Given the description of an element on the screen output the (x, y) to click on. 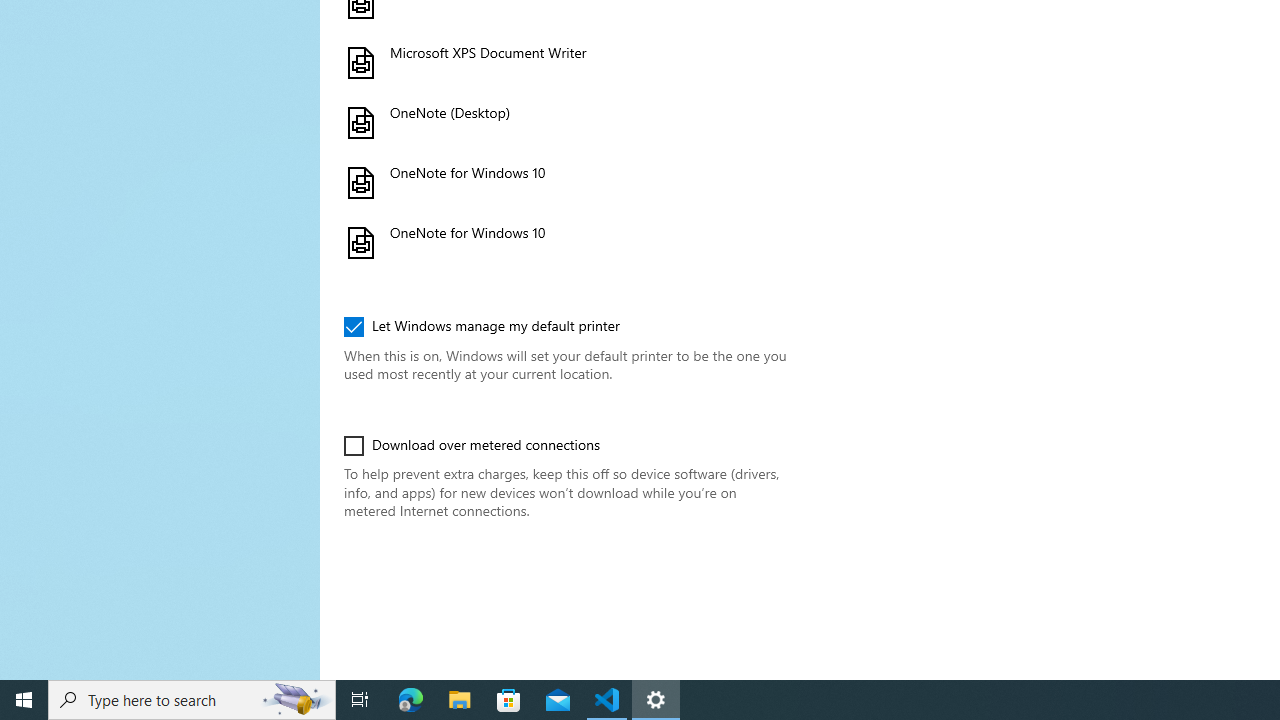
Microsoft XPS Document Writer (563, 62)
Let Windows manage my default printer (481, 326)
OneNote (Desktop) (563, 122)
OneNote for Windows 10 (563, 242)
Download over metered connections (472, 445)
